Given the description of an element on the screen output the (x, y) to click on. 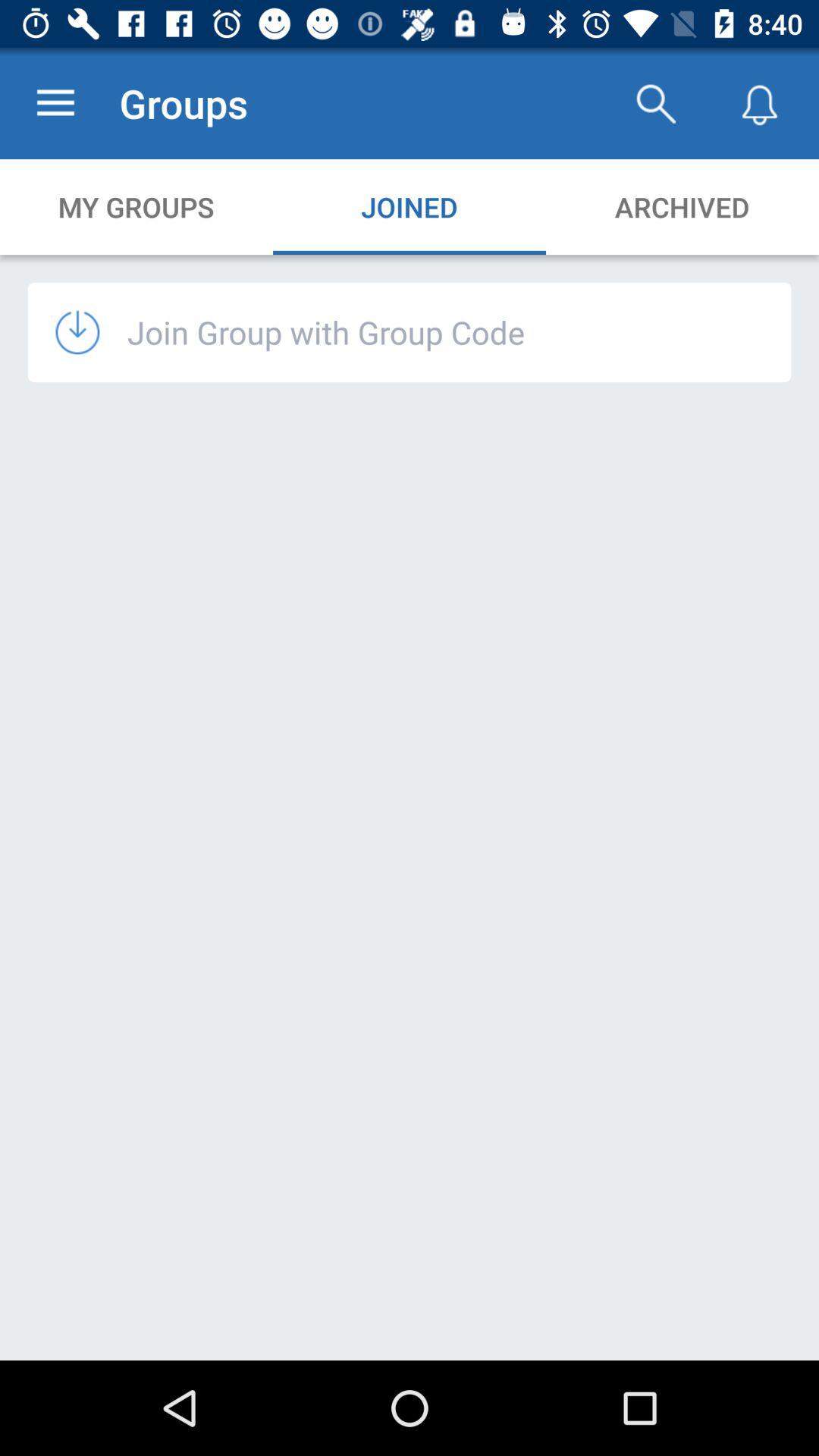
open the item next to groups (55, 103)
